Given the description of an element on the screen output the (x, y) to click on. 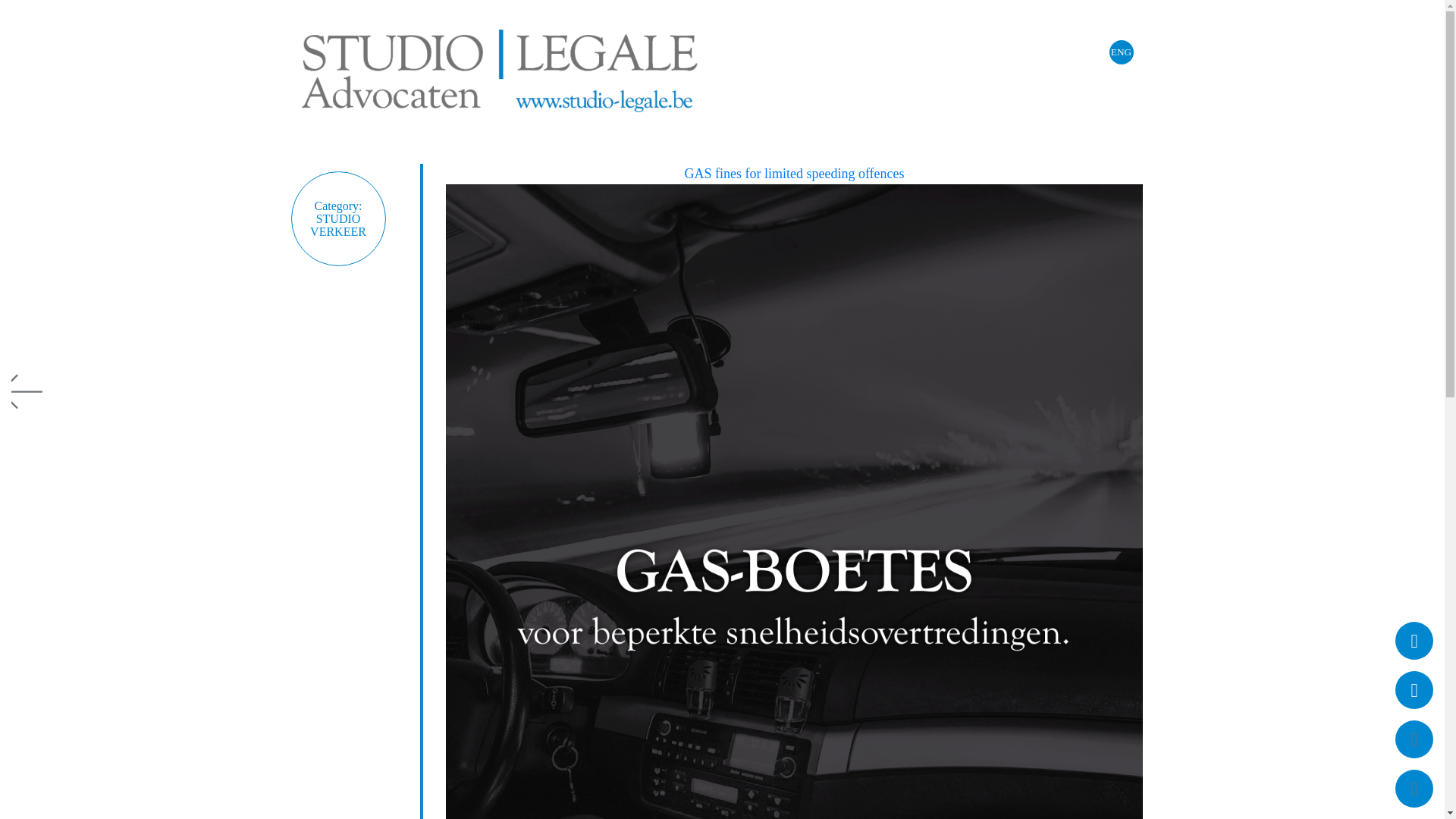
GAS fines for limited speeding offences (794, 173)
Send (722, 151)
ENG (1120, 52)
Send (722, 243)
